Given the description of an element on the screen output the (x, y) to click on. 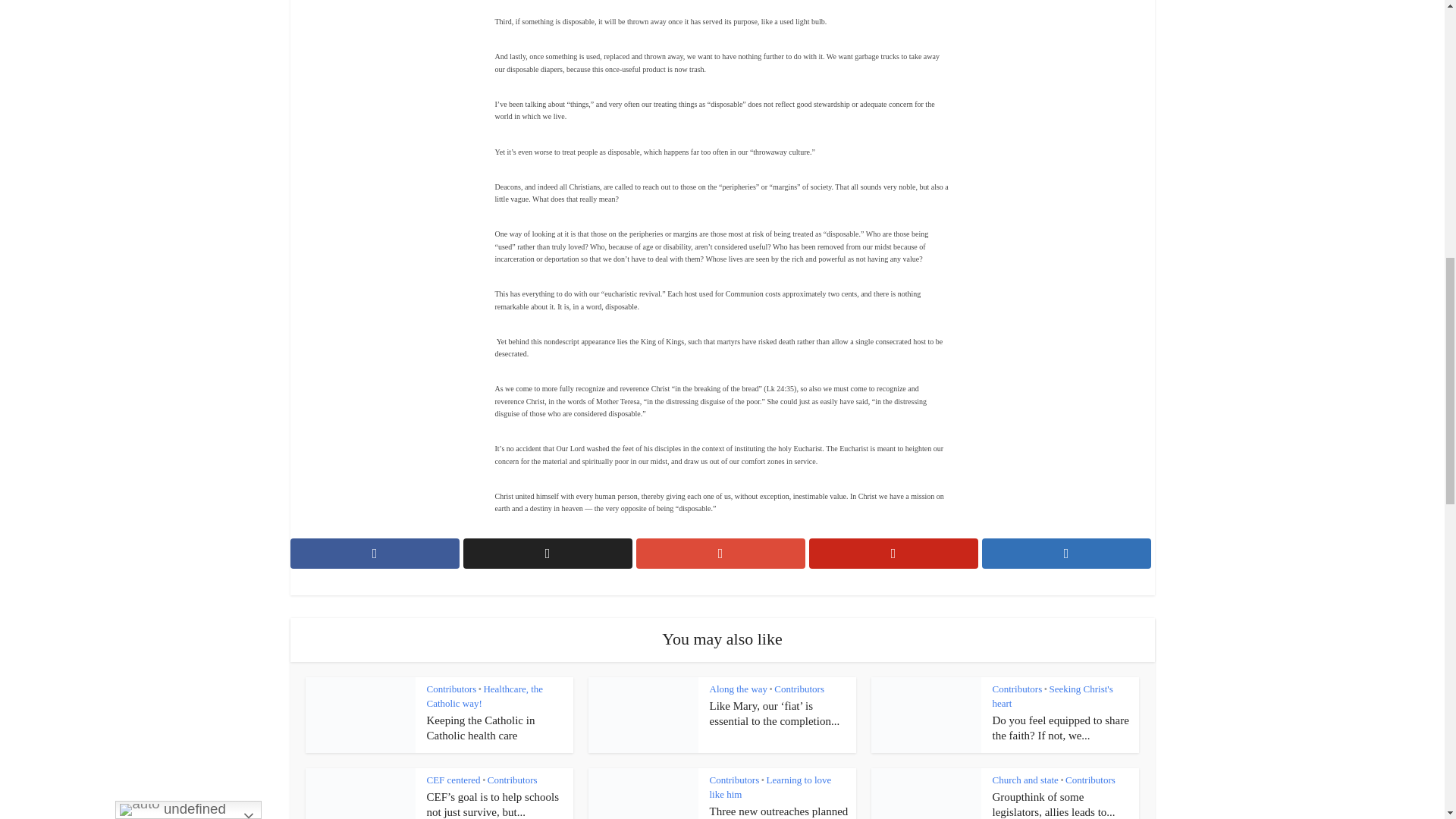
Keeping the Catholic in Catholic health care (480, 728)
Three new outreaches planned with special needs in mind (779, 812)
